Given the description of an element on the screen output the (x, y) to click on. 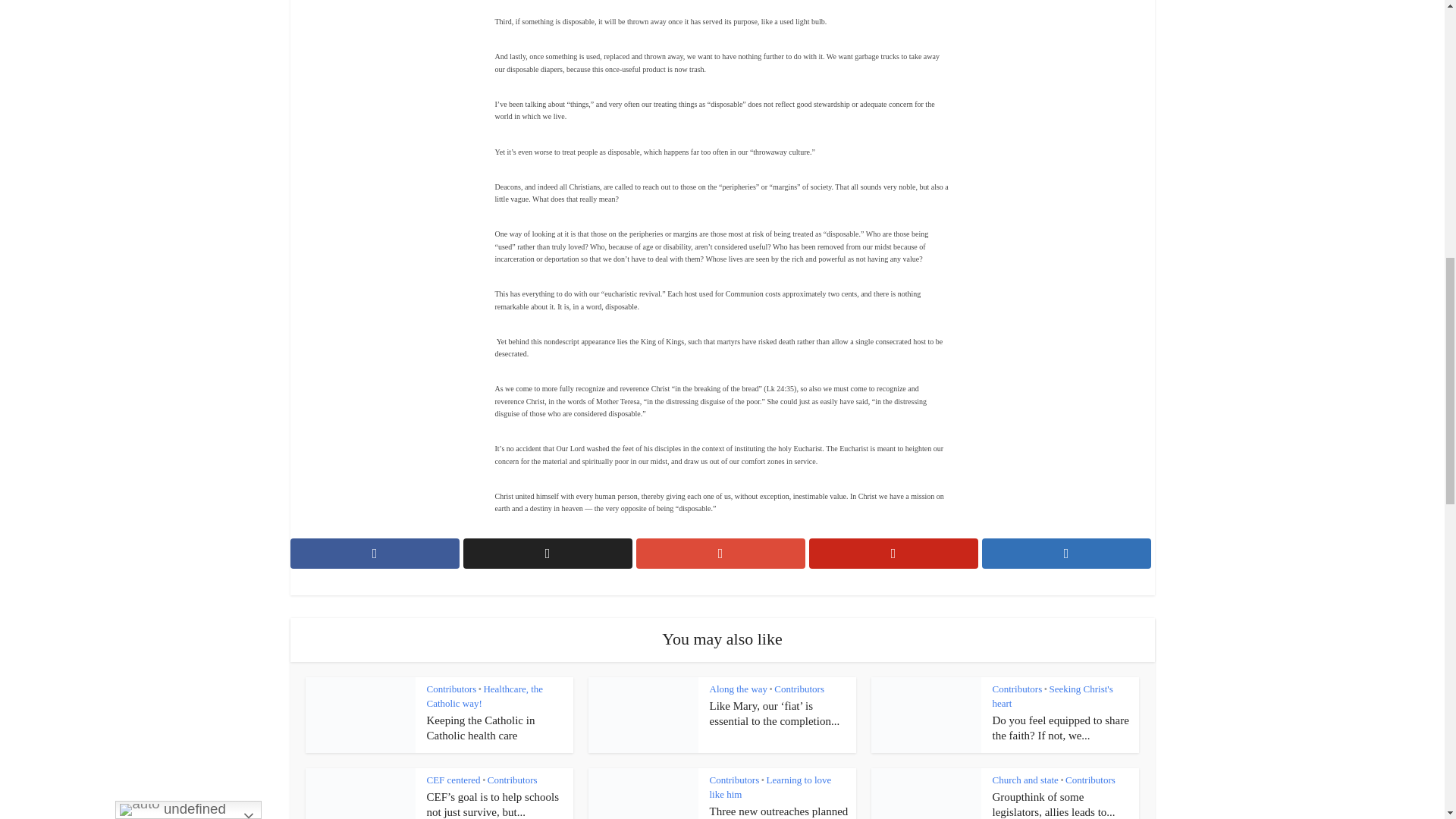
Keeping the Catholic in Catholic health care (480, 728)
Three new outreaches planned with special needs in mind (779, 812)
